Given the description of an element on the screen output the (x, y) to click on. 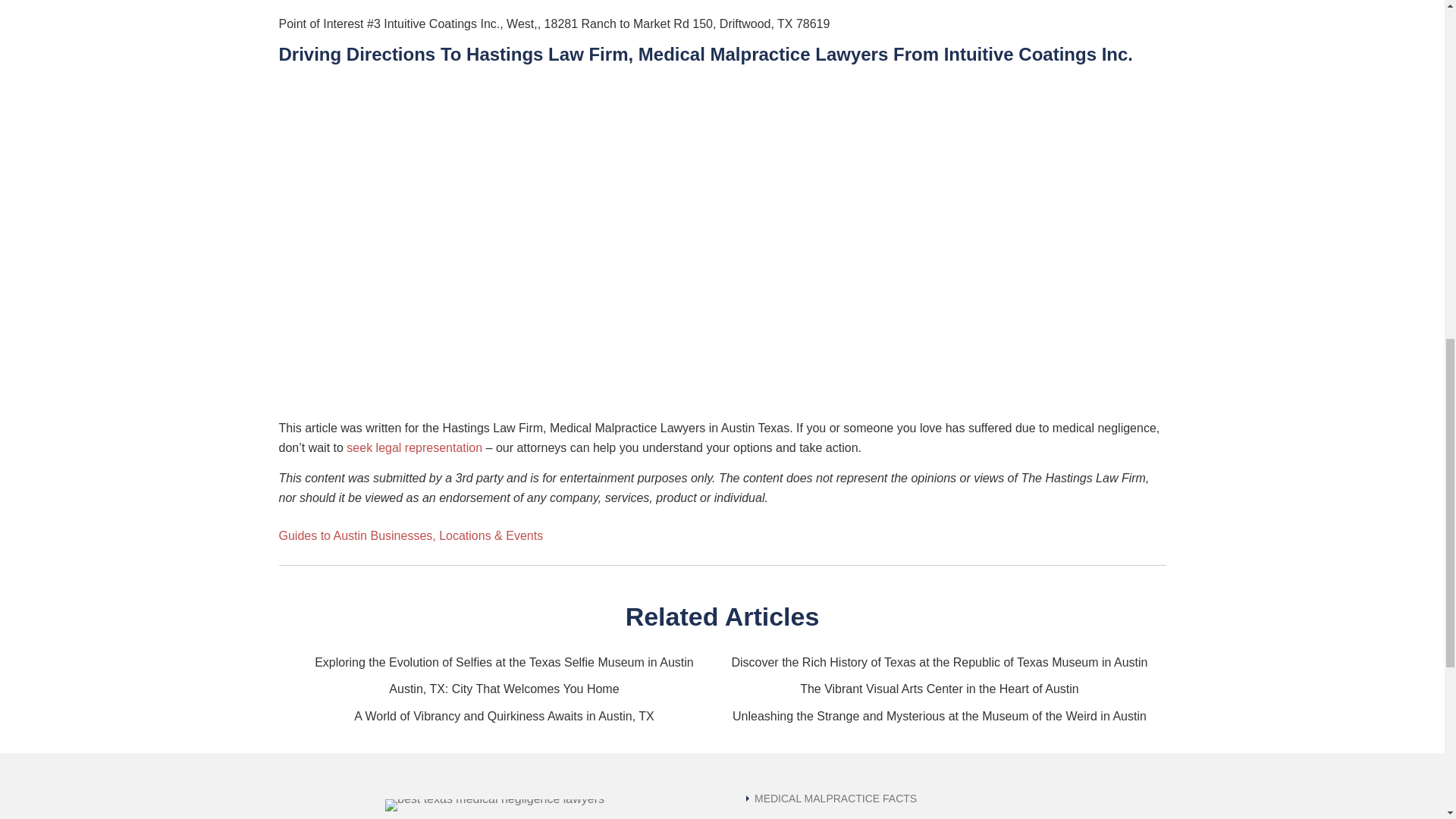
seek legal representation (413, 447)
Austin, TX: City That Welcomes You Home (503, 688)
A World of Vibrancy and Quirkiness Awaits in Austin, TX (503, 716)
Austin, TX: City That Welcomes You Home (503, 688)
The Vibrant Visual Arts Center in the Heart of Austin (938, 688)
Hastings Law Firm Small Logo (494, 805)
Hastings Law Firm, Medical Malpractice Lawyers (676, 54)
MEDICAL MALPRACTICE FACTS (831, 798)
The Vibrant Visual Arts Center in the Heart of Austin (938, 688)
